Given the description of an element on the screen output the (x, y) to click on. 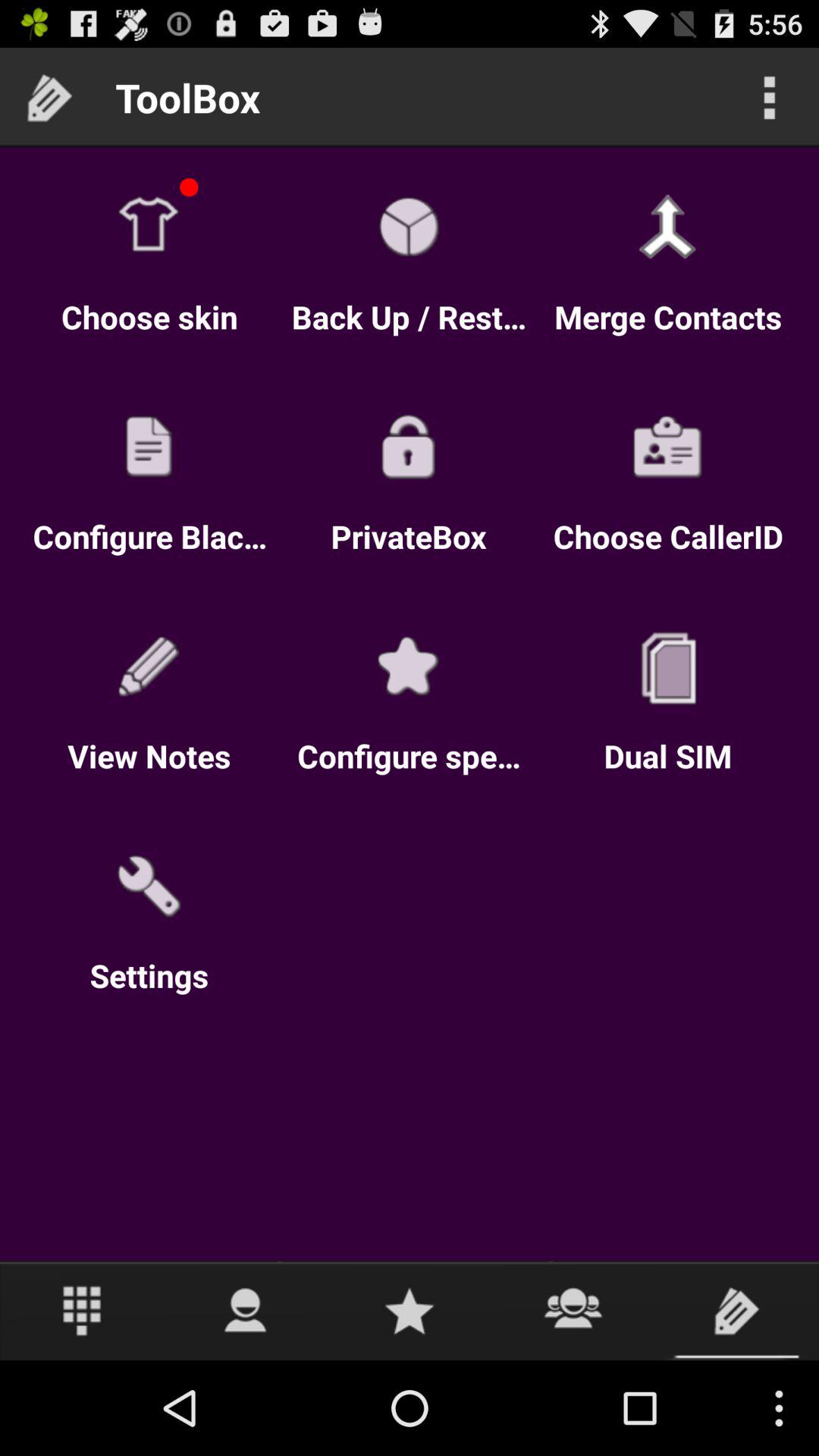
open up favorites page (409, 1310)
